Given the description of an element on the screen output the (x, y) to click on. 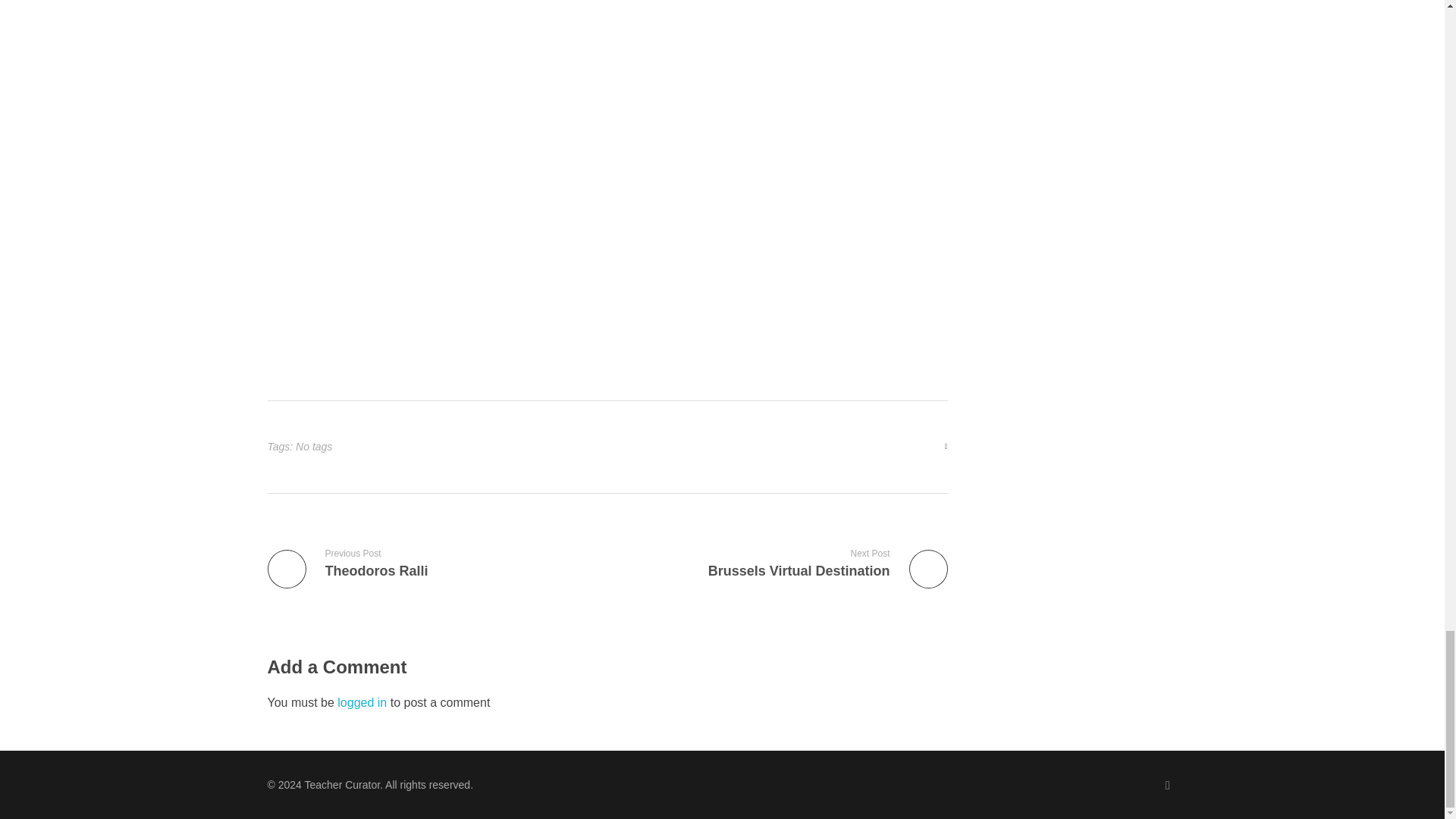
logged in (363, 702)
